Given the description of an element on the screen output the (x, y) to click on. 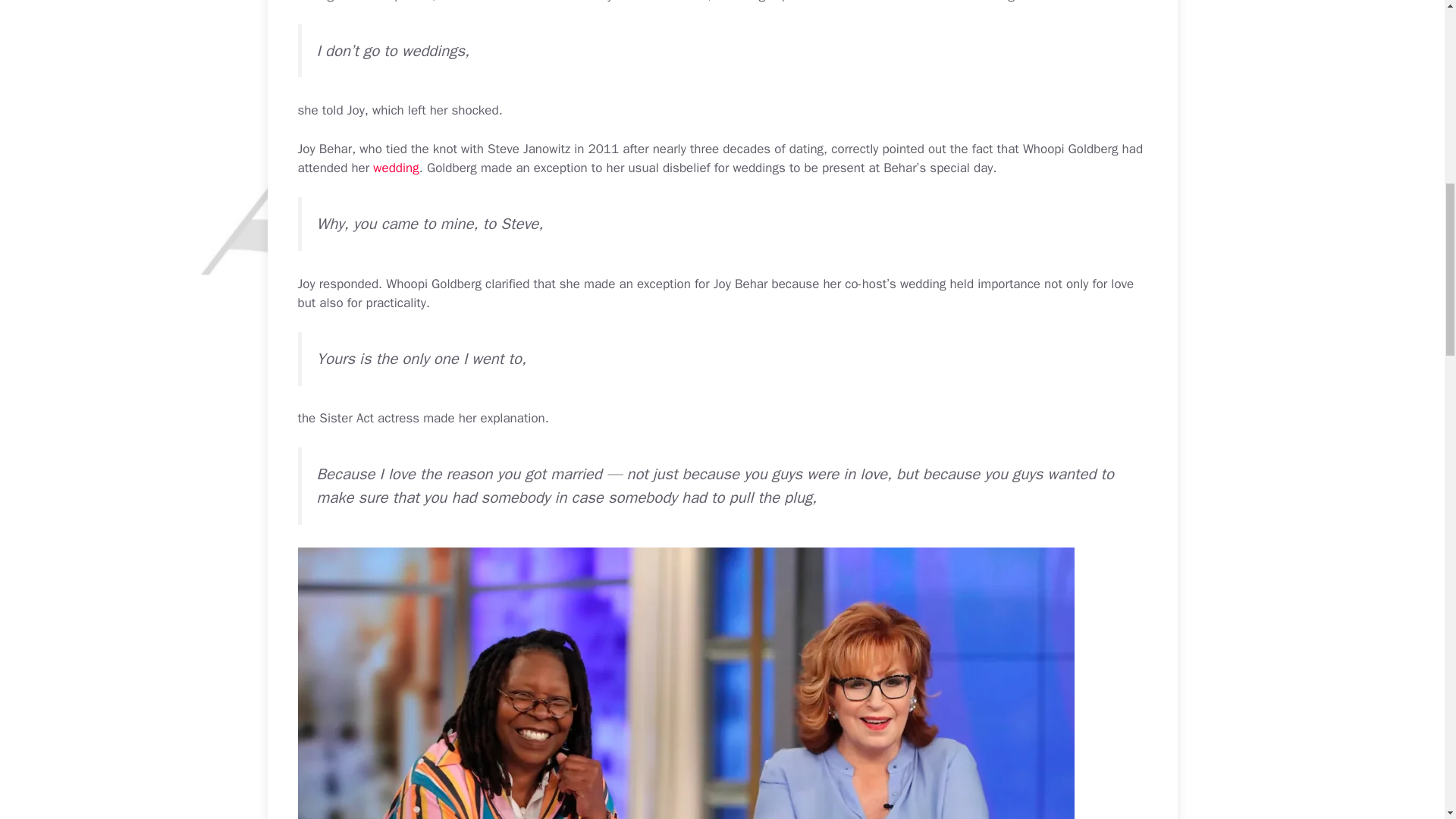
wedding (395, 167)
wedding (395, 167)
Scroll back to top (1406, 720)
